Given the description of an element on the screen output the (x, y) to click on. 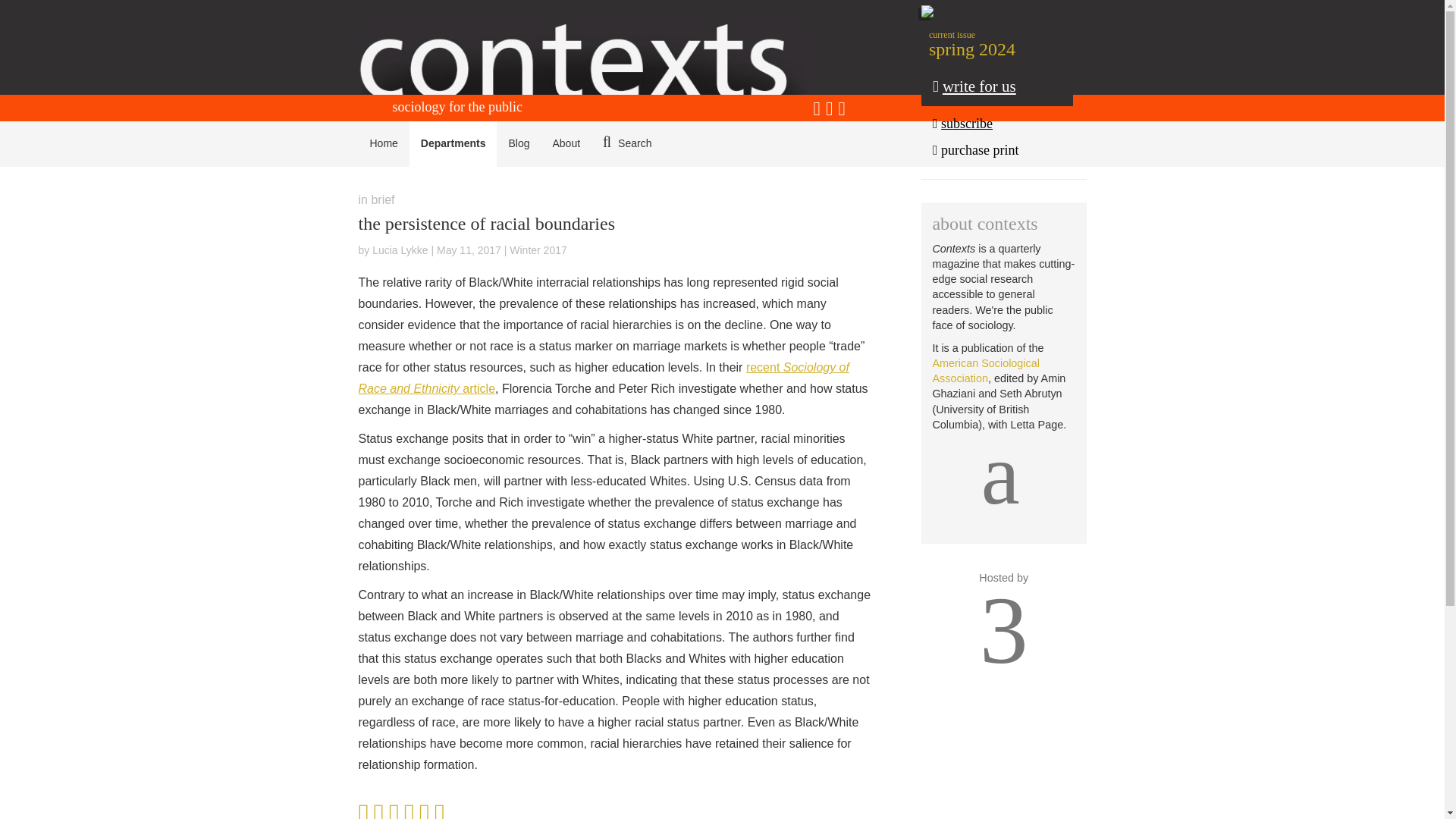
subscribe (1009, 123)
About (565, 144)
Departments (453, 144)
recent Sociology of Race and Ethnicity article (603, 377)
In Brief (376, 199)
Search (626, 144)
Blog (518, 144)
write for us (997, 87)
Home (383, 144)
purchase print (1009, 149)
Contexts (593, 58)
spring 2024 (1007, 49)
in brief (376, 199)
Winter 2017 (537, 250)
American Sociological Association (985, 370)
